Given the description of an element on the screen output the (x, y) to click on. 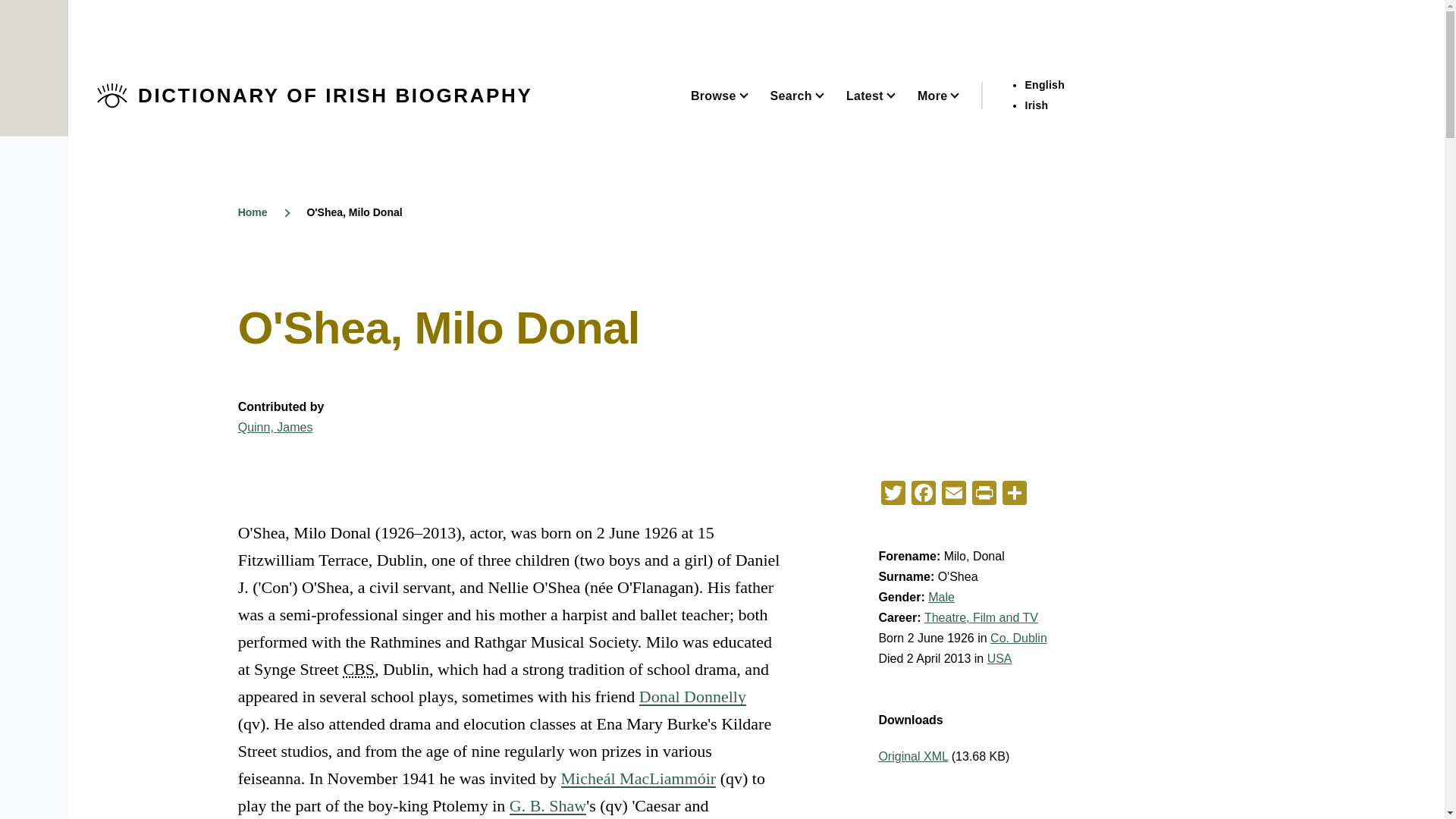
Skip to main content (595, 6)
DICTIONARY OF IRISH BIOGRAPHY (335, 95)
Quinn, James (275, 427)
G. B. Shaw (547, 805)
Home (335, 95)
Home (252, 212)
Christian Brothers' School (358, 669)
Donal Donnelly (692, 696)
